Given the description of an element on the screen output the (x, y) to click on. 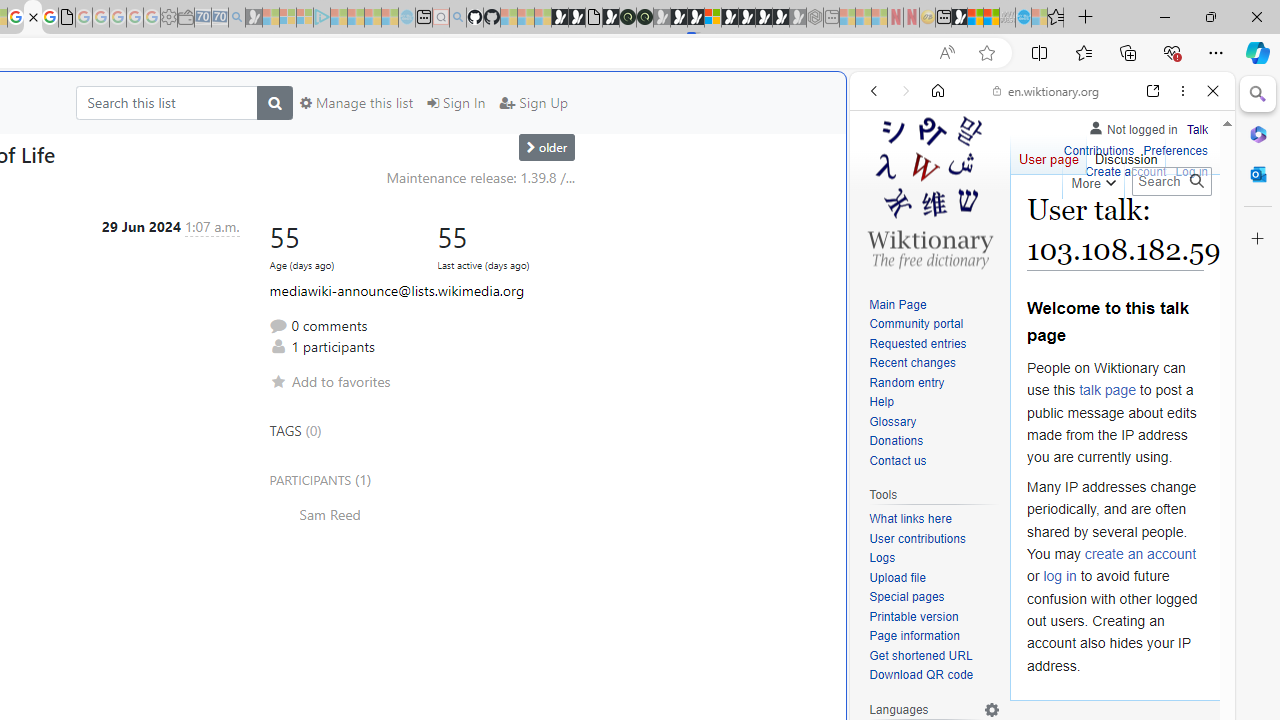
Contributions (1098, 151)
Special pages (906, 596)
Future Focus Report 2024 (644, 17)
Community portal (934, 324)
Services - Maintenance | Sky Blue Bikes - Sky Blue Bikes (1023, 17)
Requested entries (934, 344)
Close split screen (844, 102)
Search Filter, VIDEOS (1006, 228)
User contributions (934, 539)
